Given the description of an element on the screen output the (x, y) to click on. 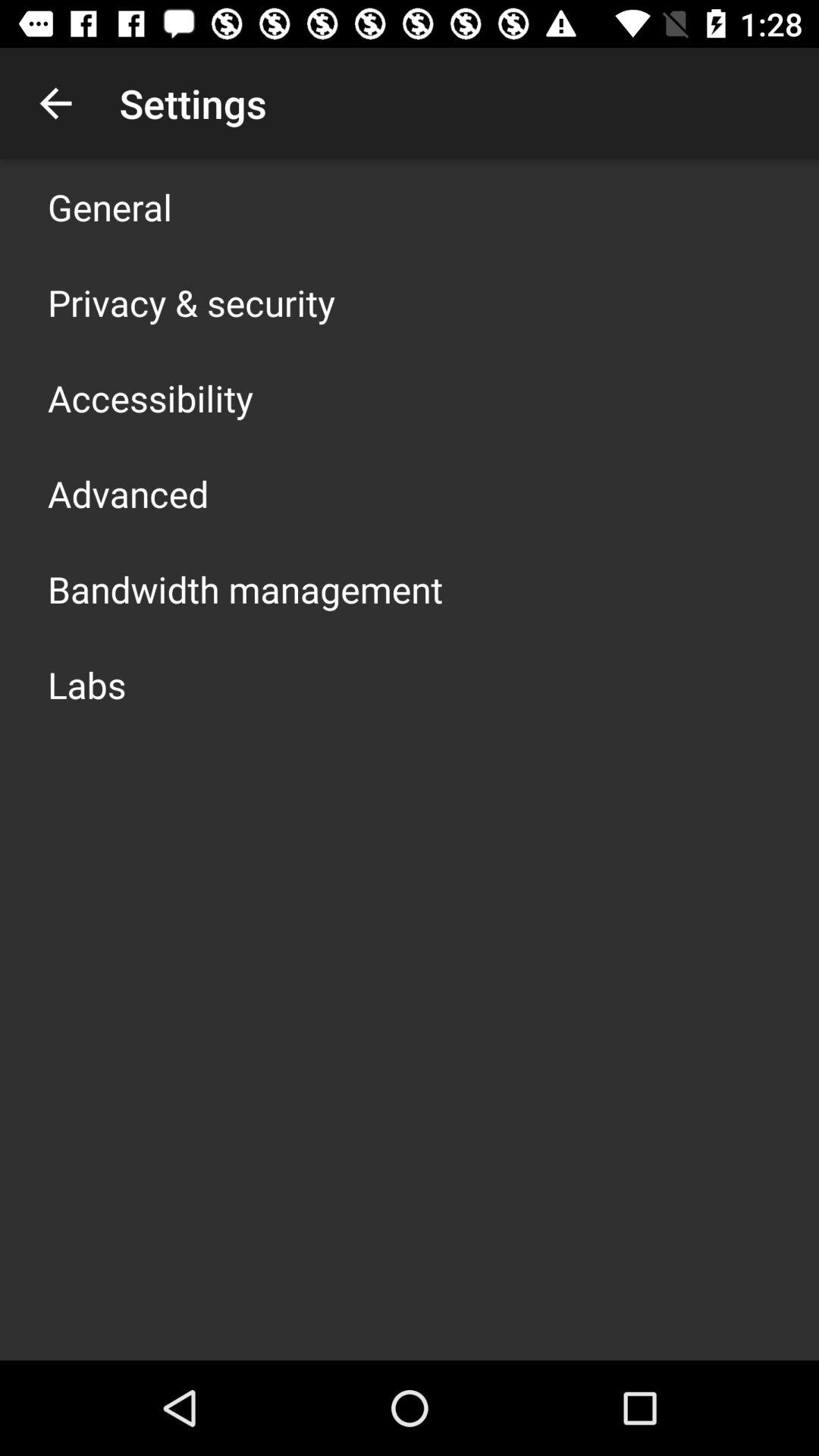
open the app above advanced app (150, 397)
